Given the description of an element on the screen output the (x, y) to click on. 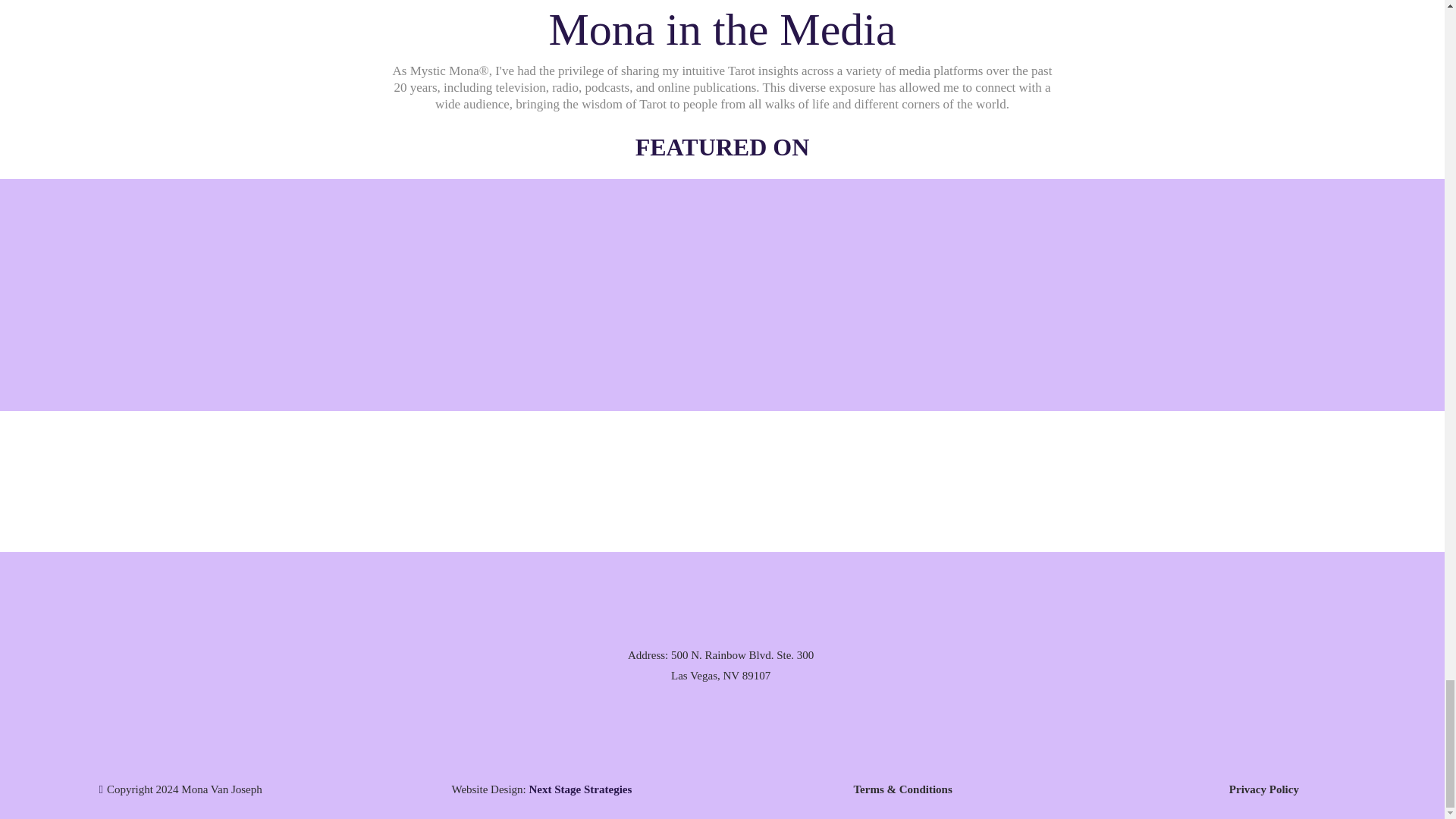
Privacy Policy (1263, 788)
Next Stage Strategies (580, 788)
